Given the description of an element on the screen output the (x, y) to click on. 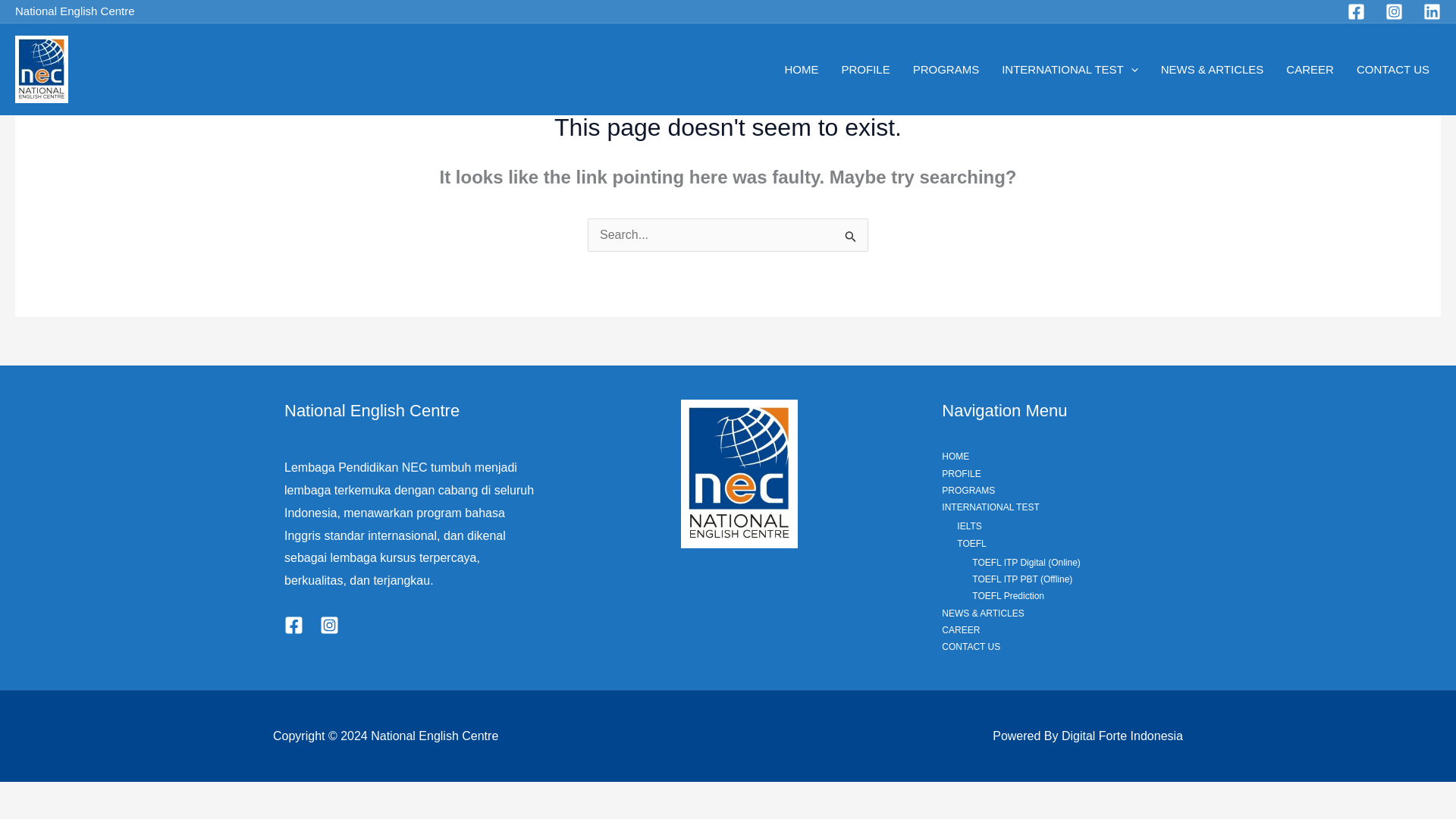
HOME (801, 68)
PROFILE (865, 68)
CONTACT US (1393, 68)
INTERNATIONAL TEST (1070, 68)
CAREER (1310, 68)
PROGRAMS (946, 68)
